Given the description of an element on the screen output the (x, y) to click on. 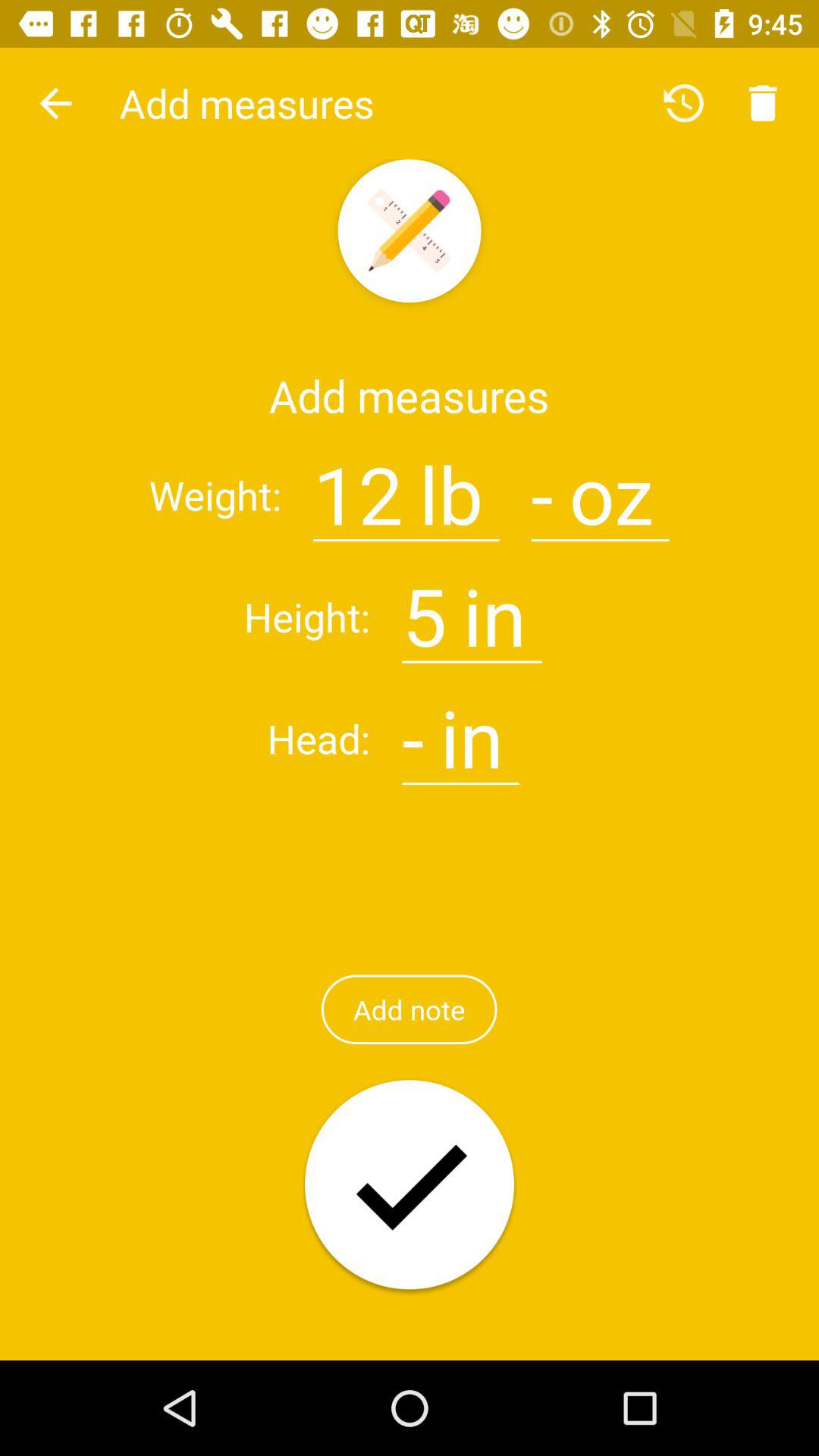
finished (409, 1186)
